Given the description of an element on the screen output the (x, y) to click on. 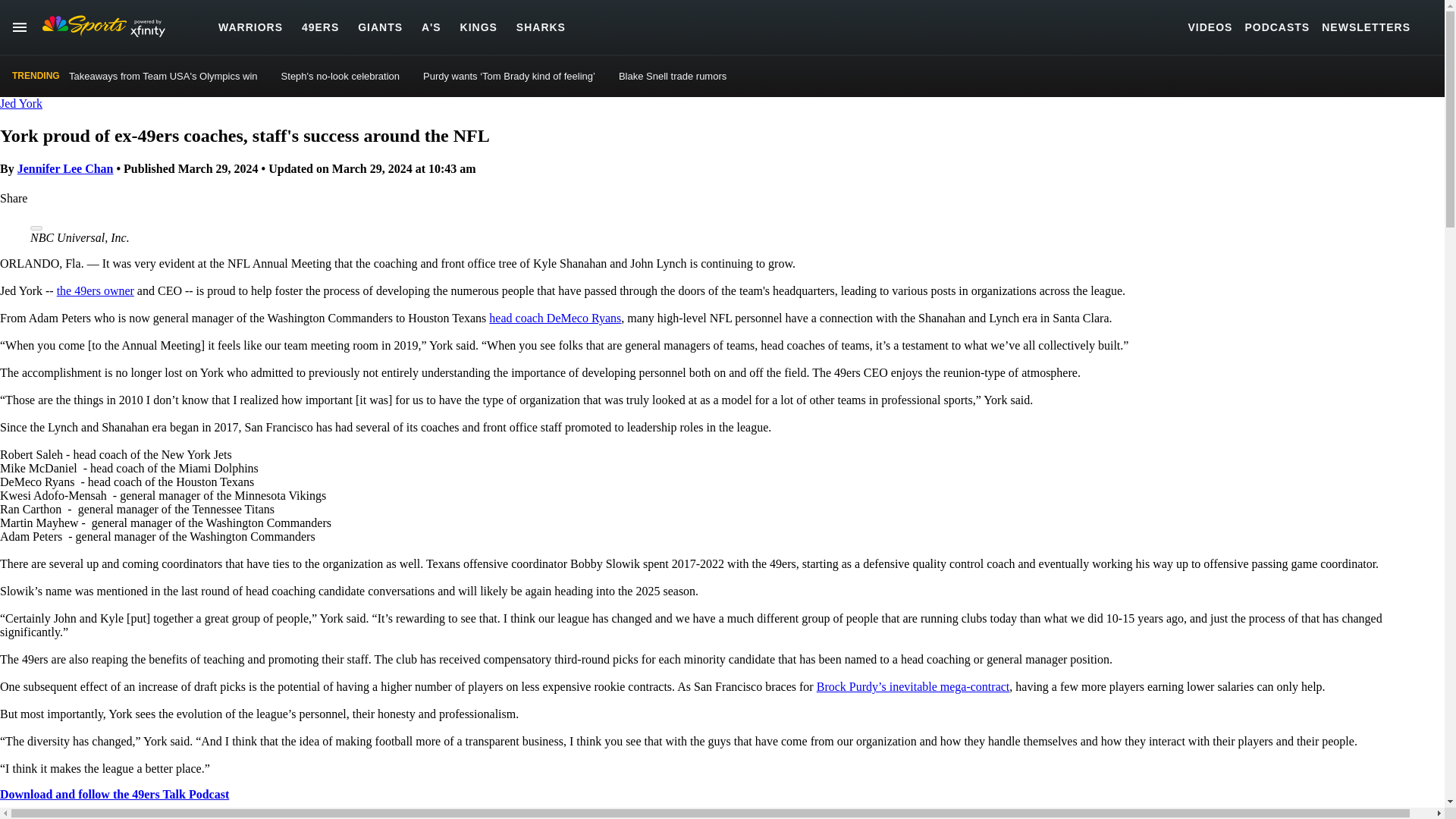
49ERS (320, 27)
WARRIORS (250, 27)
A'S (431, 27)
PODCASTS (1276, 27)
GIANTS (380, 27)
Jed York (21, 103)
Takeaways from Team USA's Olympics win (162, 75)
Steph's no-look celebration (339, 75)
Blake Snell trade rumors (672, 75)
Download and follow the 49ers Talk Podcast (114, 793)
Jennifer Lee Chan (65, 168)
the 49ers owner (94, 290)
head coach DeMeco Ryans (555, 318)
SHARKS (541, 27)
